Given the description of an element on the screen output the (x, y) to click on. 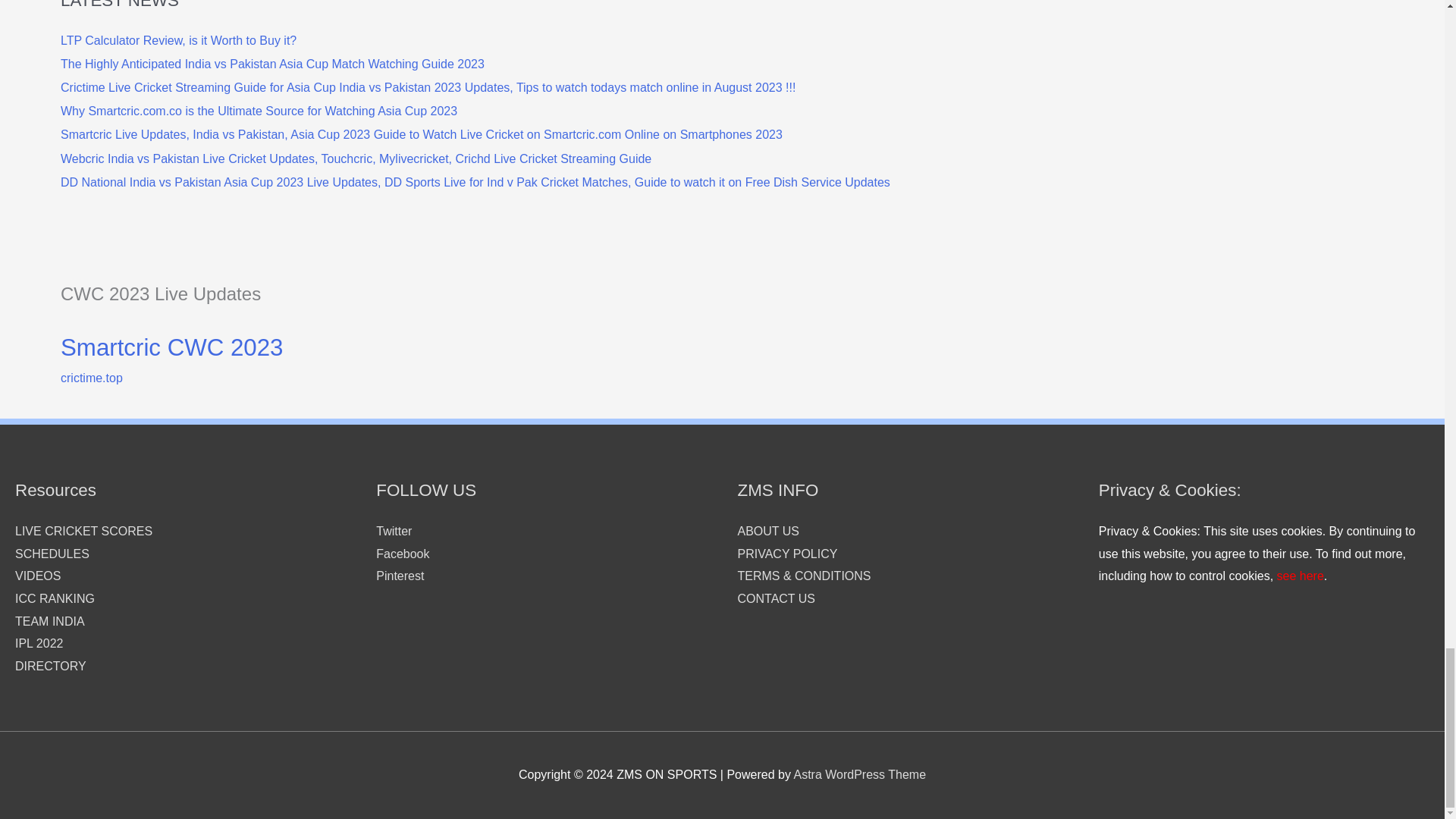
LTP Calculator Review, is it Worth to Buy it? (179, 40)
